Given the description of an element on the screen output the (x, y) to click on. 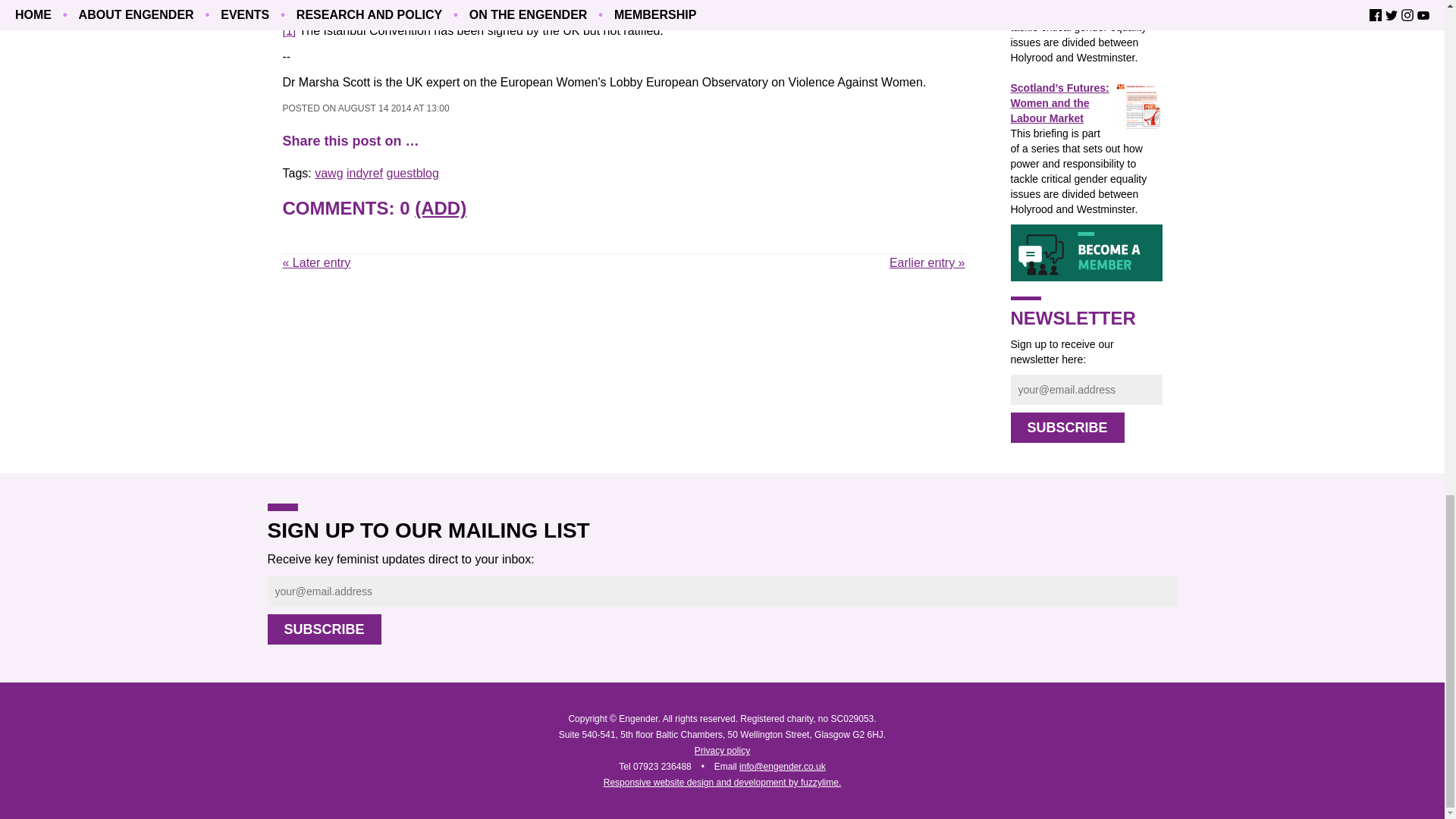
Subscribe (1067, 427)
Subscribe (323, 629)
